Given the description of an element on the screen output the (x, y) to click on. 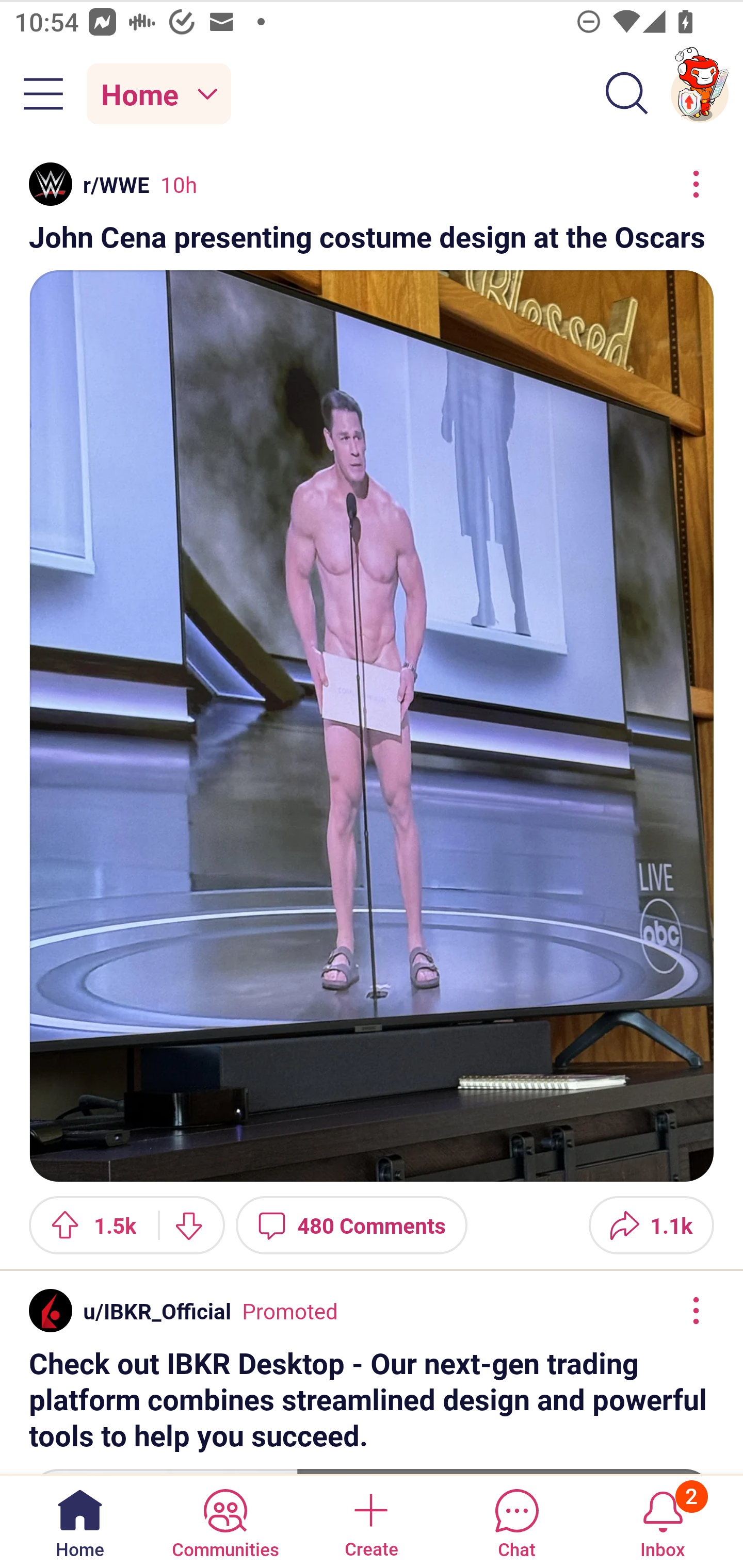
Community menu (43, 93)
Home Home feed (158, 93)
Search (626, 93)
TestAppium002 account (699, 93)
Home (80, 1520)
Communities (225, 1520)
Create a post Create (370, 1520)
Chat (516, 1520)
Inbox, has 2 notifications 2 Inbox (662, 1520)
